Given the description of an element on the screen output the (x, y) to click on. 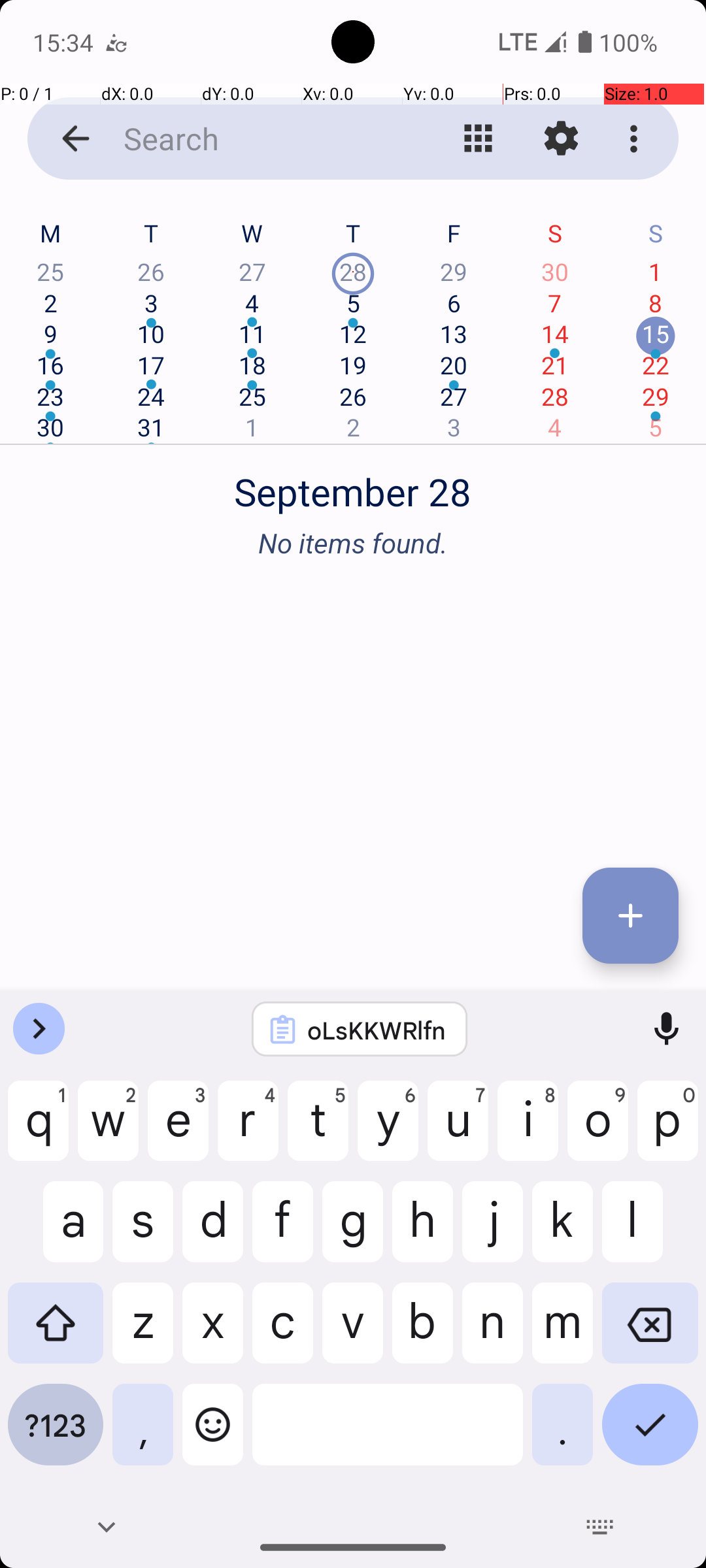
September 28 Element type: android.widget.TextView (352, 483)
oLsKKWRlfn Element type: android.widget.TextView (376, 1029)
